Given the description of an element on the screen output the (x, y) to click on. 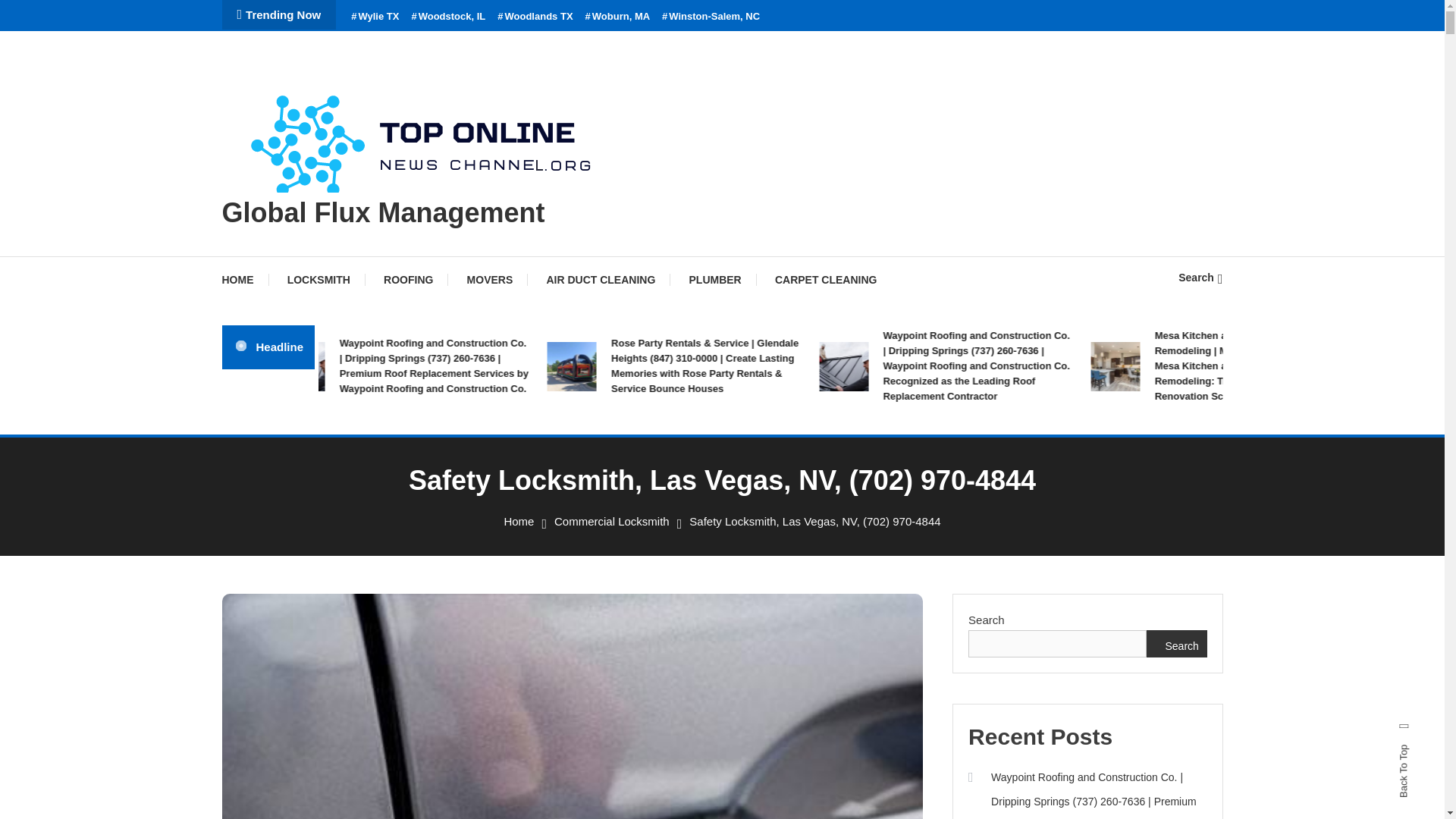
Search (768, 434)
PLUMBER (713, 279)
MOVERS (489, 279)
Search (1200, 277)
HOME (244, 279)
Woodstock, IL (447, 16)
Woodlands TX (534, 16)
Winston-Salem, NC (711, 16)
ROOFING (408, 279)
AIR DUCT CLEANING (600, 279)
